Given the description of an element on the screen output the (x, y) to click on. 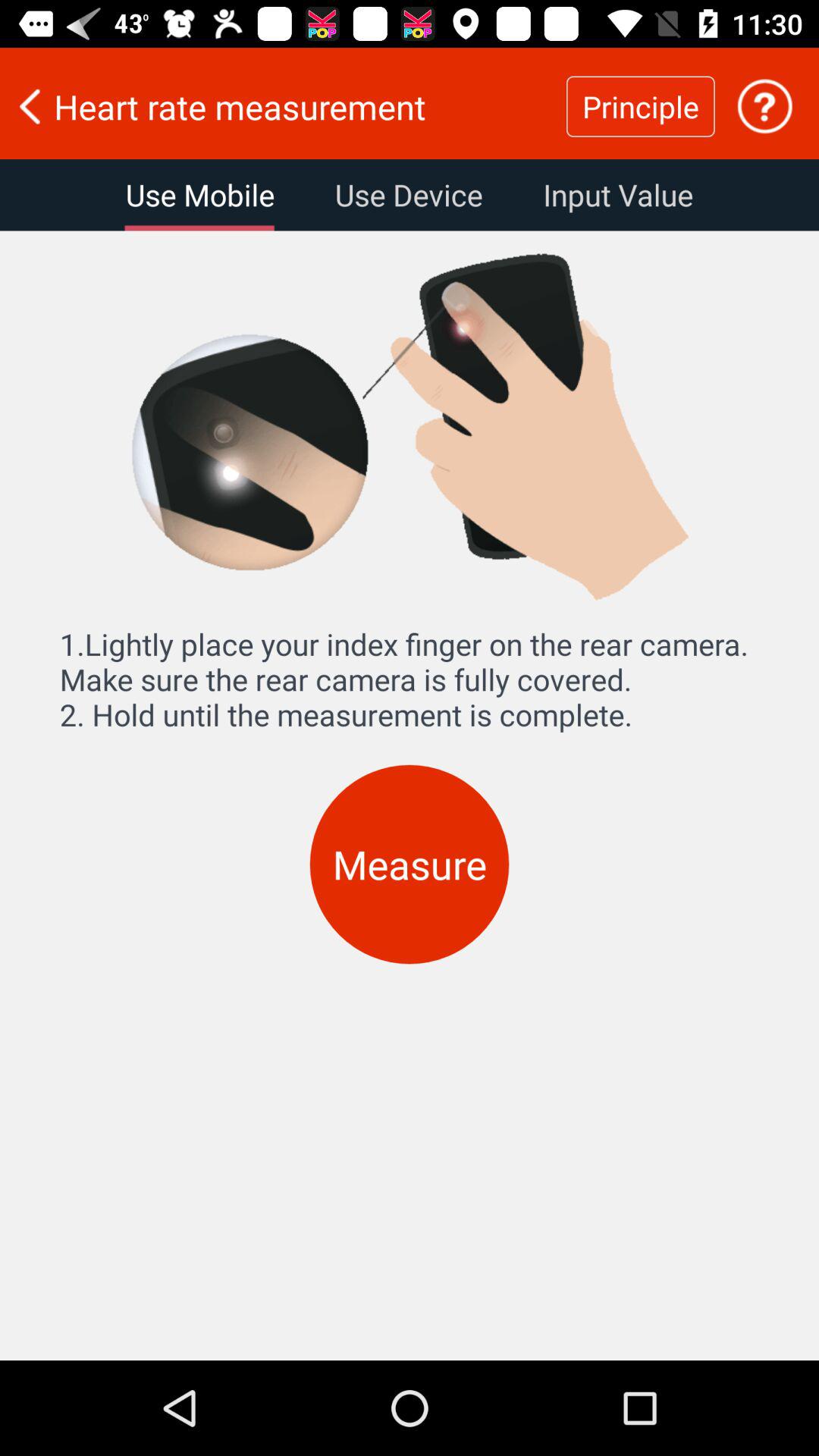
open the measure icon (409, 864)
